Given the description of an element on the screen output the (x, y) to click on. 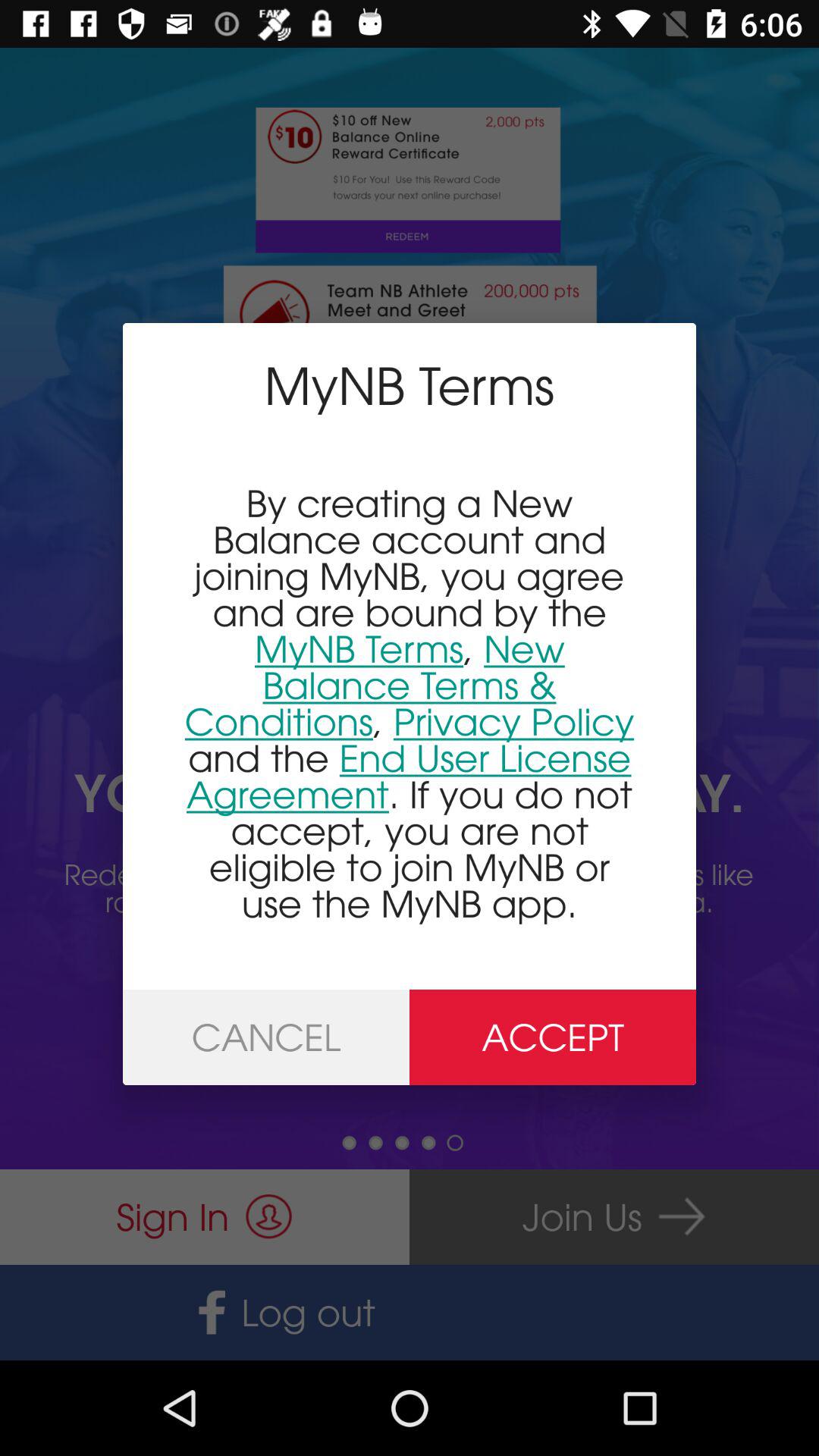
tap item at the bottom left corner (265, 1037)
